Given the description of an element on the screen output the (x, y) to click on. 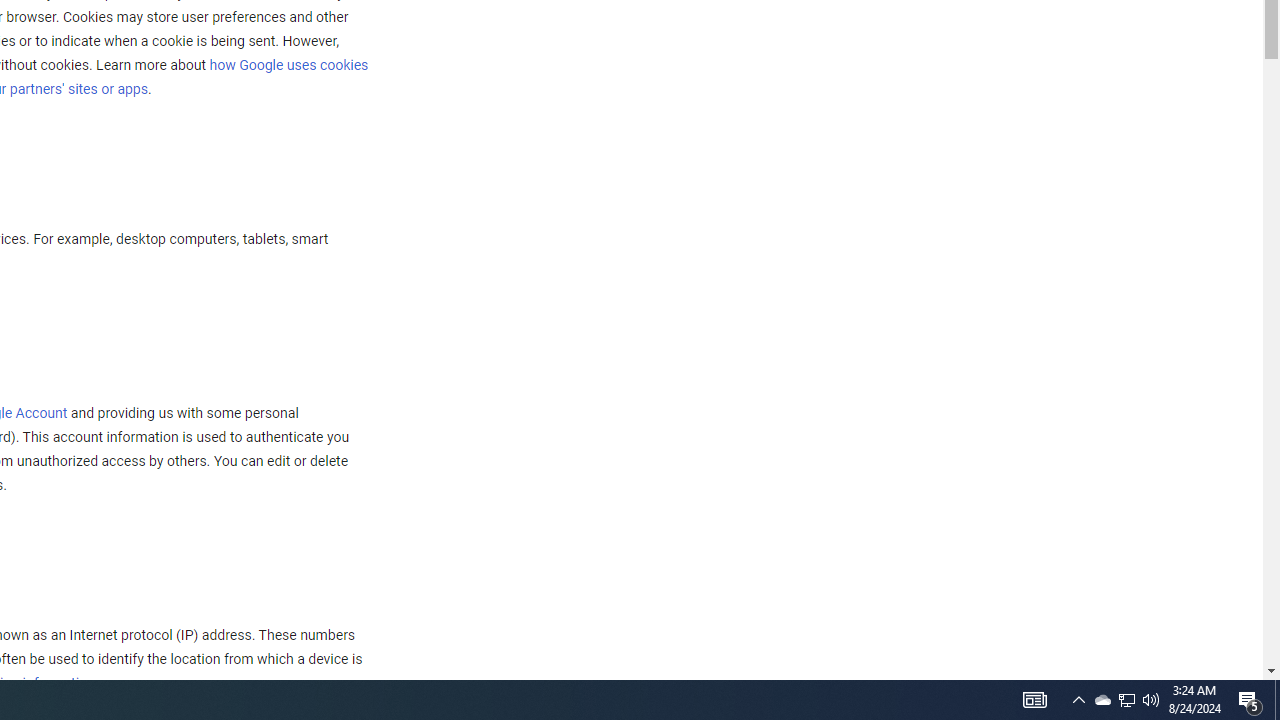
how Google uses cookies (288, 65)
